Given the description of an element on the screen output the (x, y) to click on. 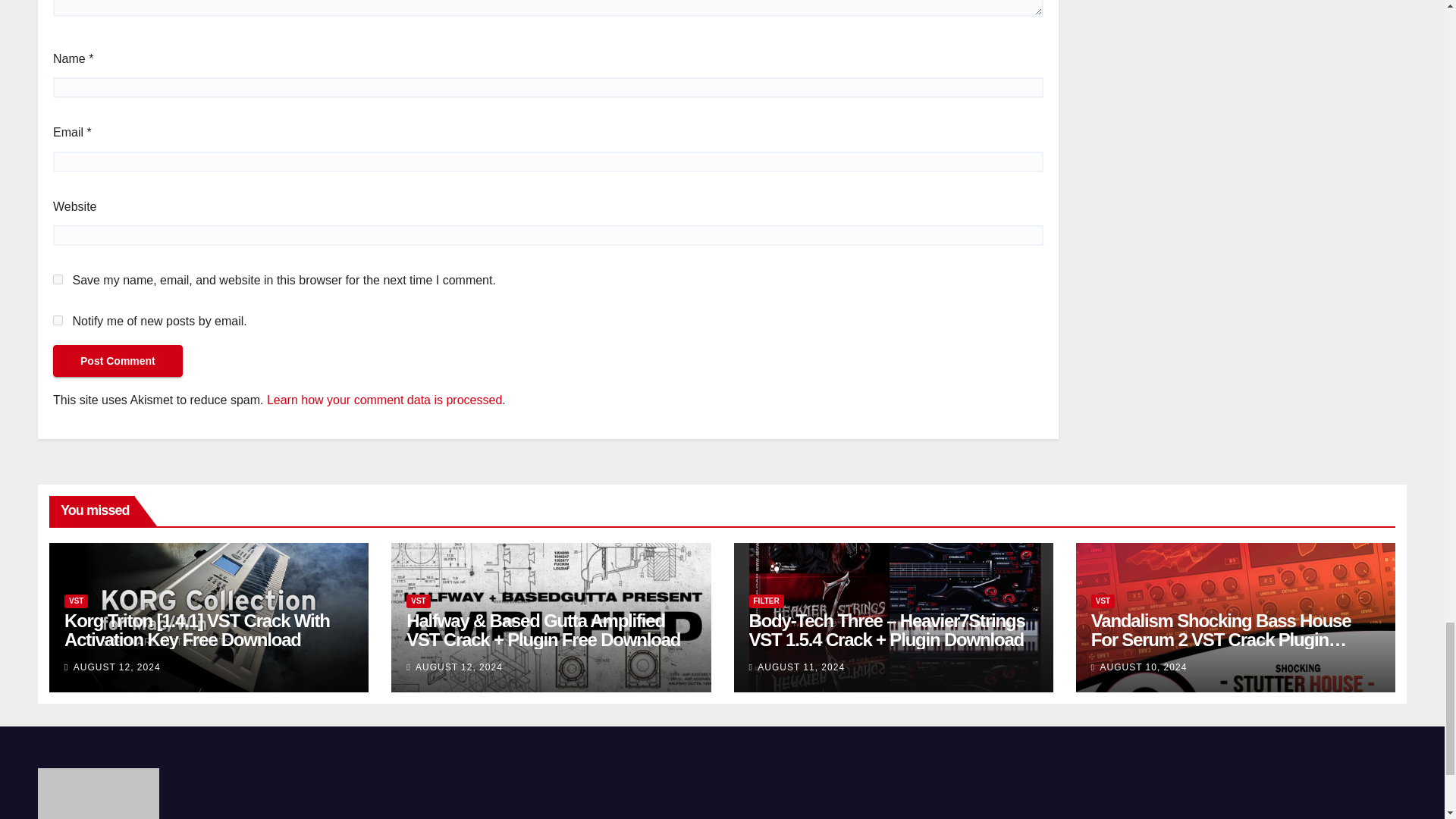
Post Comment (117, 360)
yes (57, 279)
subscribe (57, 320)
